Given the description of an element on the screen output the (x, y) to click on. 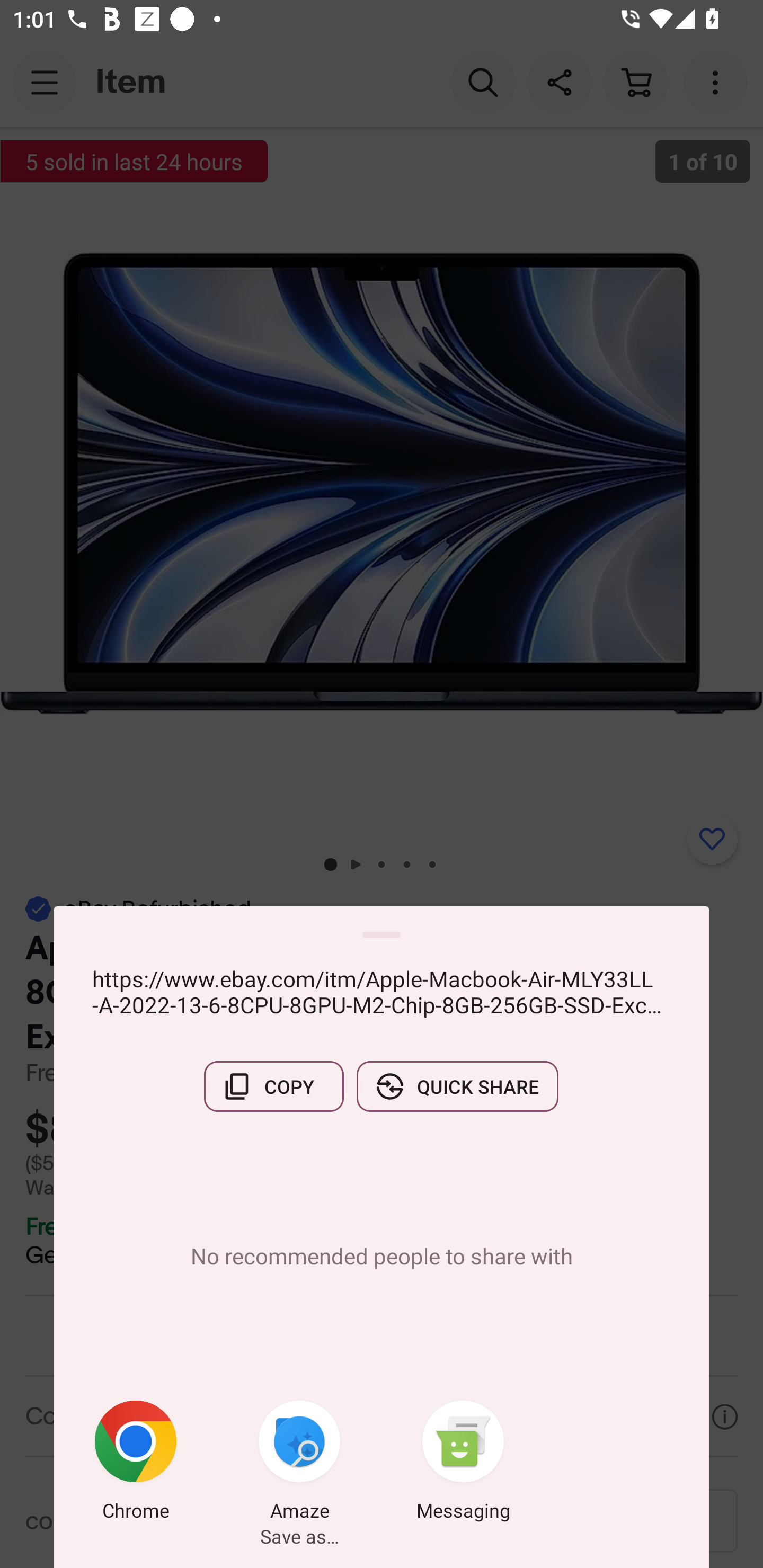
COPY (273, 1086)
QUICK SHARE (457, 1086)
Chrome (135, 1463)
Amaze Save as… (299, 1463)
Messaging (463, 1463)
